Given the description of an element on the screen output the (x, y) to click on. 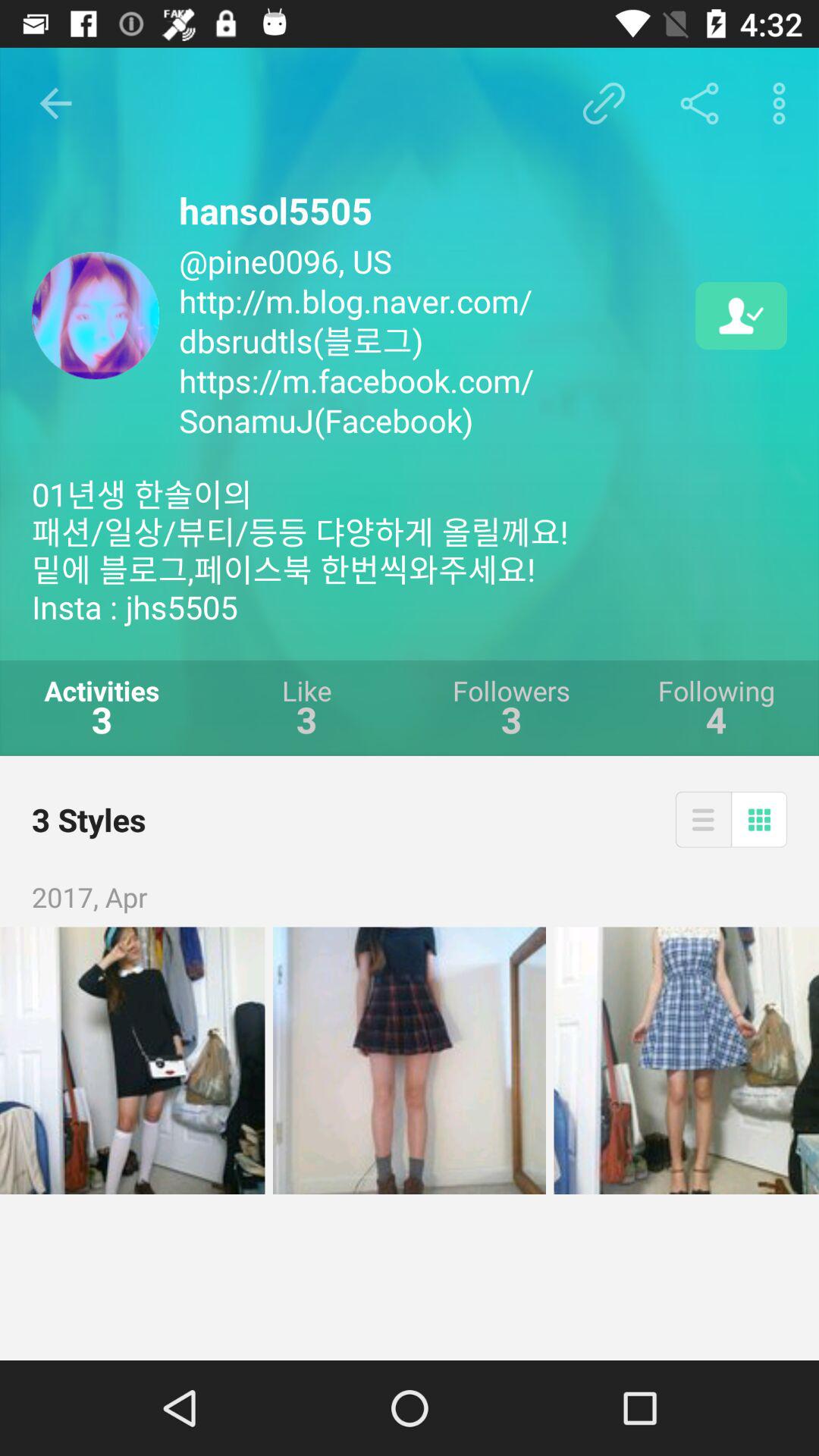
following (741, 315)
